Given the description of an element on the screen output the (x, y) to click on. 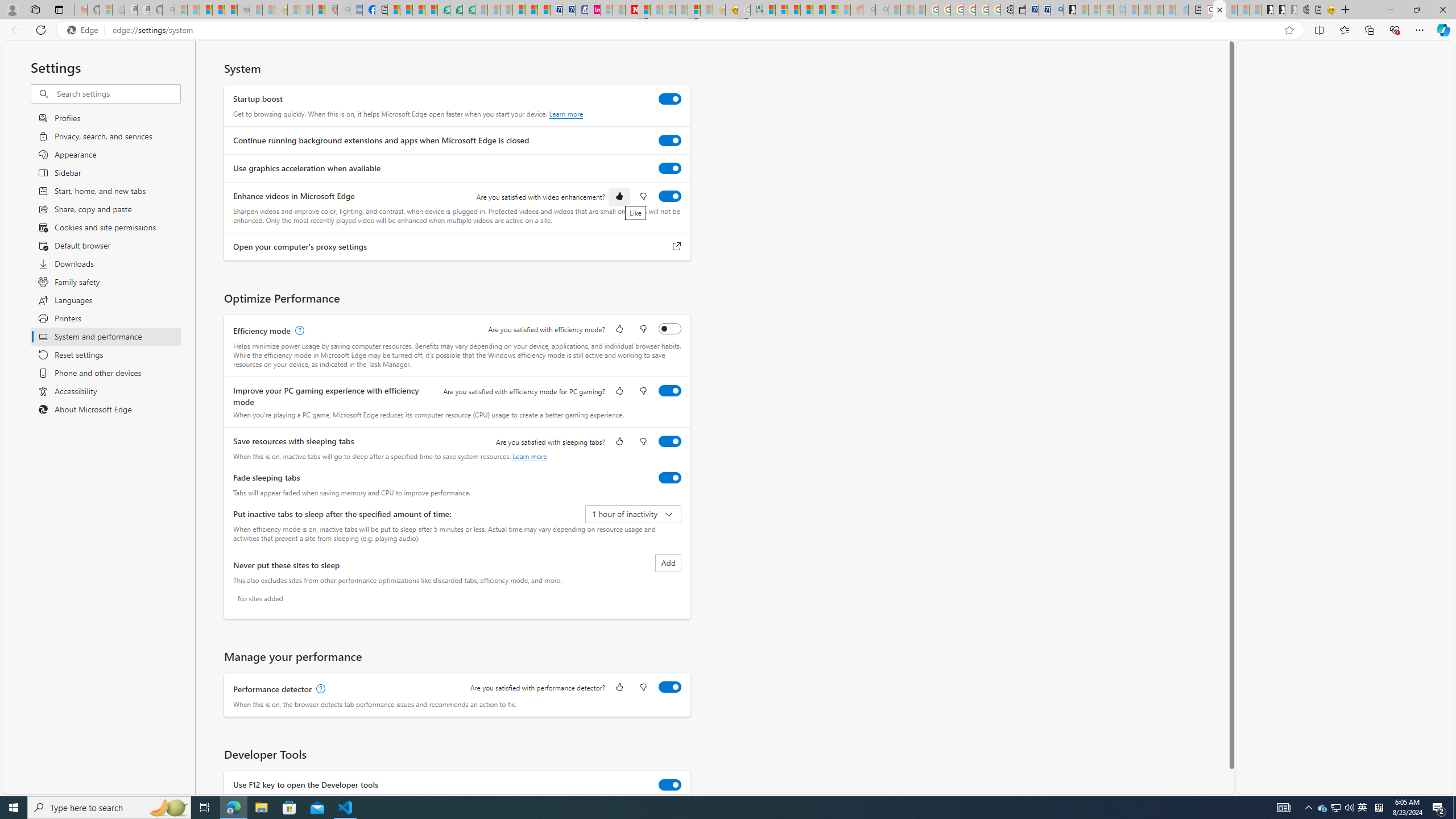
Edge (84, 29)
Performance detector (669, 686)
Use F12 key to open the Developer tools (669, 784)
